Given the description of an element on the screen output the (x, y) to click on. 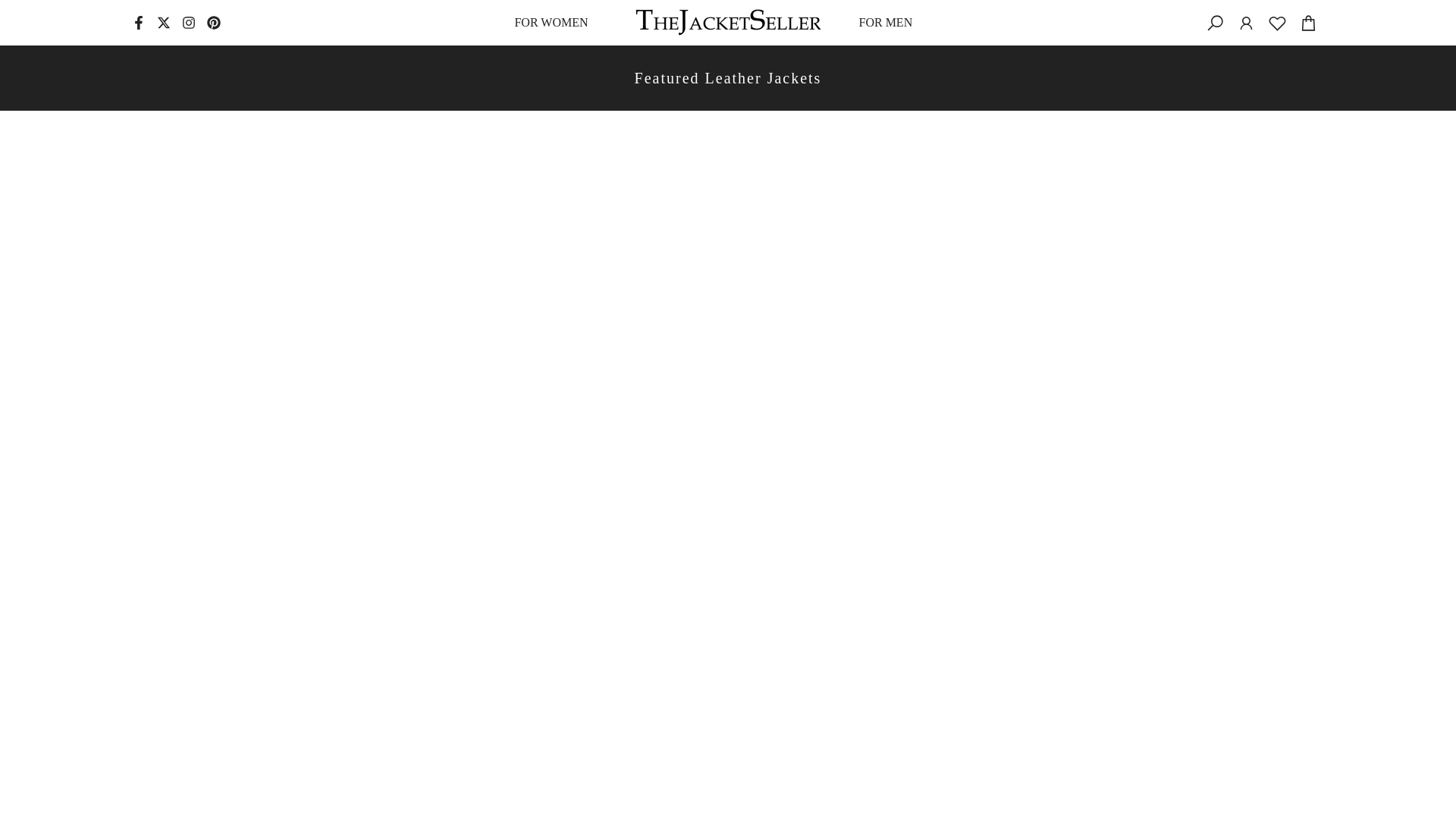
FOR MEN (889, 22)
FOR WOMEN (555, 22)
Skip to content (10, 7)
